Given the description of an element on the screen output the (x, y) to click on. 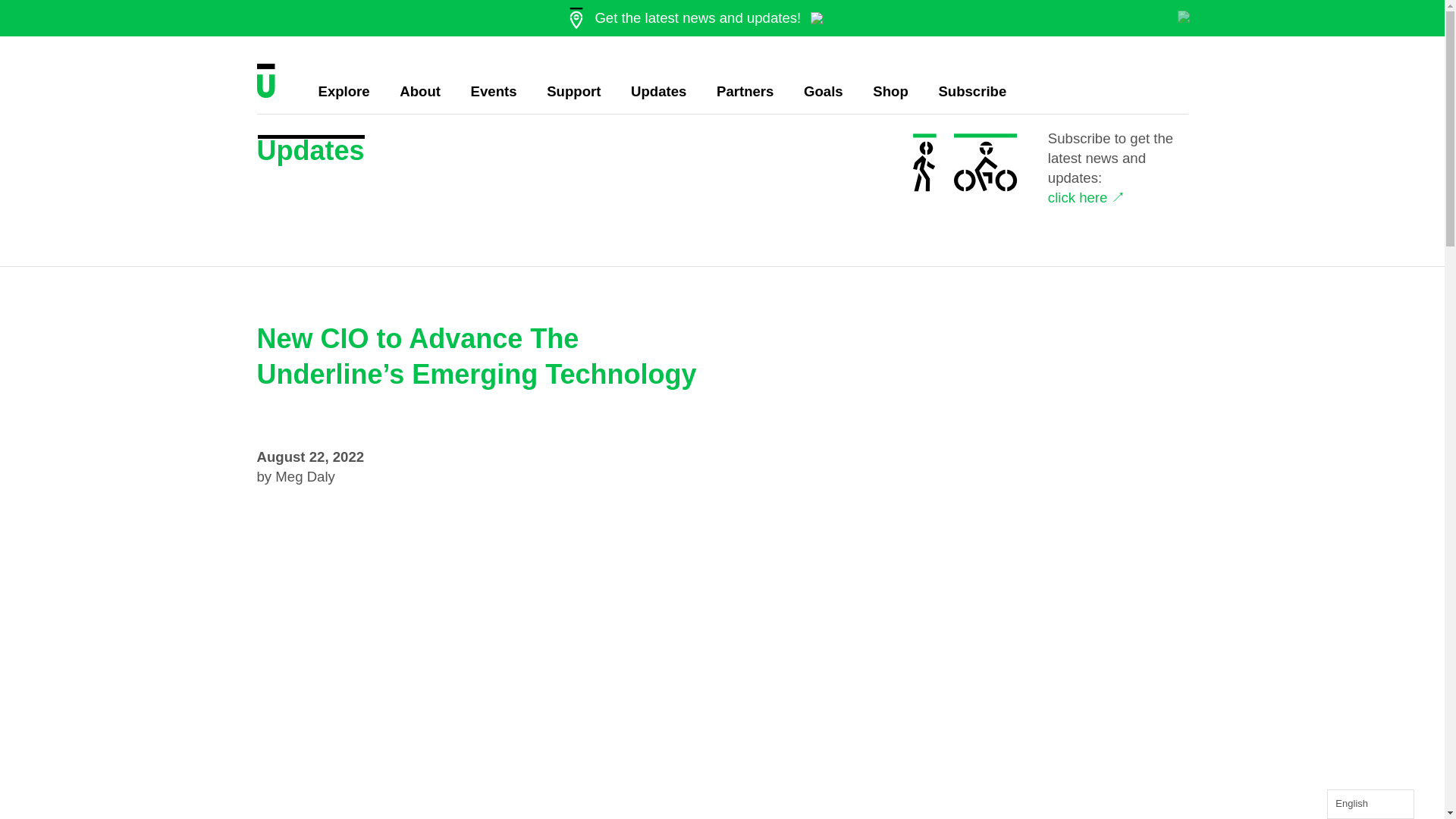
Events (493, 91)
Goals (823, 91)
Partners (744, 91)
About (419, 91)
Explore (343, 91)
Shop (889, 91)
Support (573, 91)
Subscribe (971, 91)
Updates (657, 91)
